Given the description of an element on the screen output the (x, y) to click on. 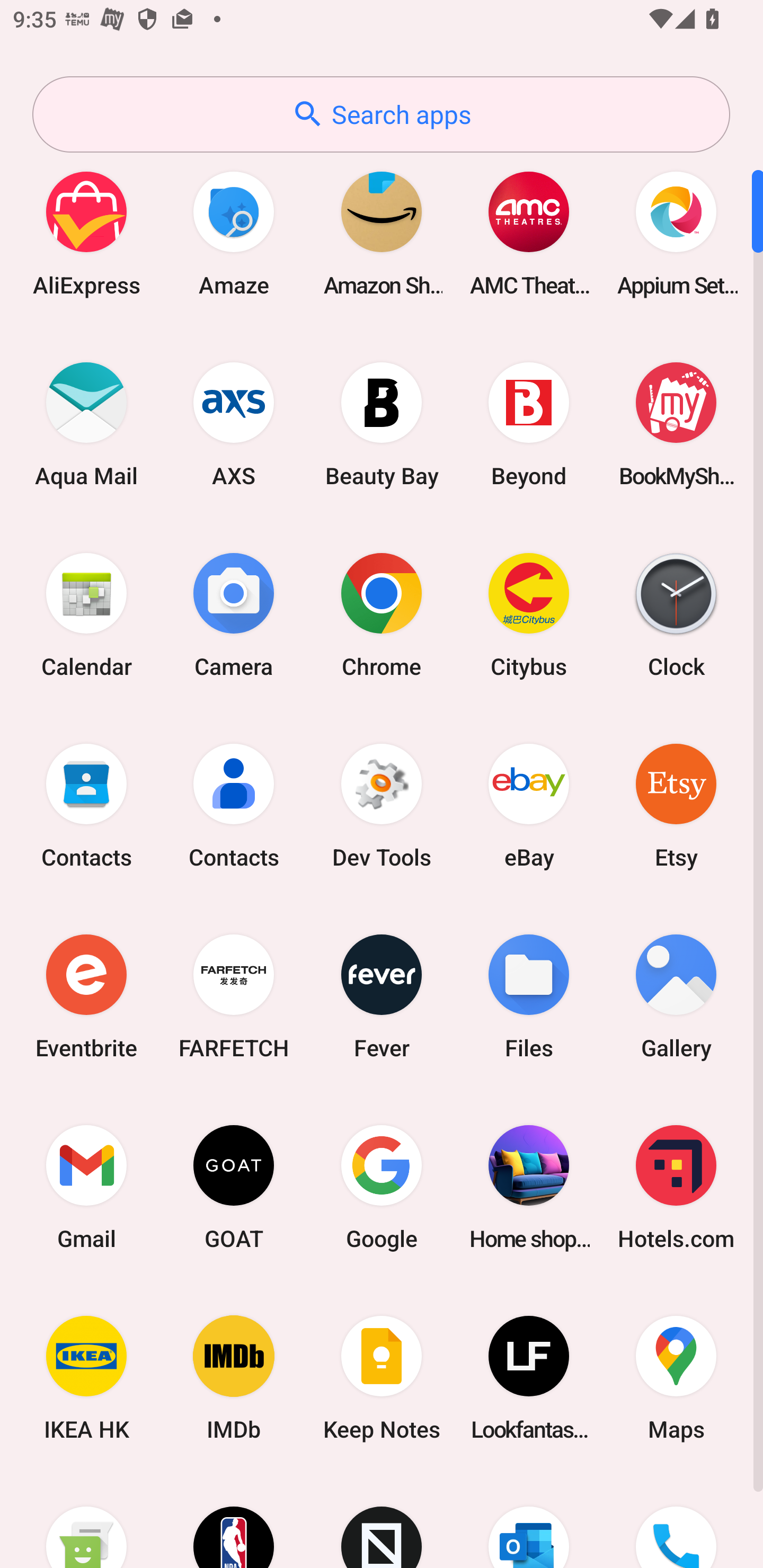
  Search apps (381, 114)
AliExpress (86, 233)
Amaze (233, 233)
Amazon Shopping (381, 233)
AMC Theatres (528, 233)
Appium Settings (676, 233)
Aqua Mail (86, 424)
AXS (233, 424)
Beauty Bay (381, 424)
Beyond (528, 424)
BookMyShow (676, 424)
Calendar (86, 614)
Camera (233, 614)
Chrome (381, 614)
Citybus (528, 614)
Clock (676, 614)
Contacts (86, 805)
Contacts (233, 805)
Dev Tools (381, 805)
eBay (528, 805)
Etsy (676, 805)
Eventbrite (86, 996)
FARFETCH (233, 996)
Fever (381, 996)
Files (528, 996)
Gallery (676, 996)
Gmail (86, 1186)
GOAT (233, 1186)
Google (381, 1186)
Home shopping (528, 1186)
Hotels.com (676, 1186)
IKEA HK (86, 1377)
IMDb (233, 1377)
Keep Notes (381, 1377)
Lookfantastic (528, 1377)
Maps (676, 1377)
